Given the description of an element on the screen output the (x, y) to click on. 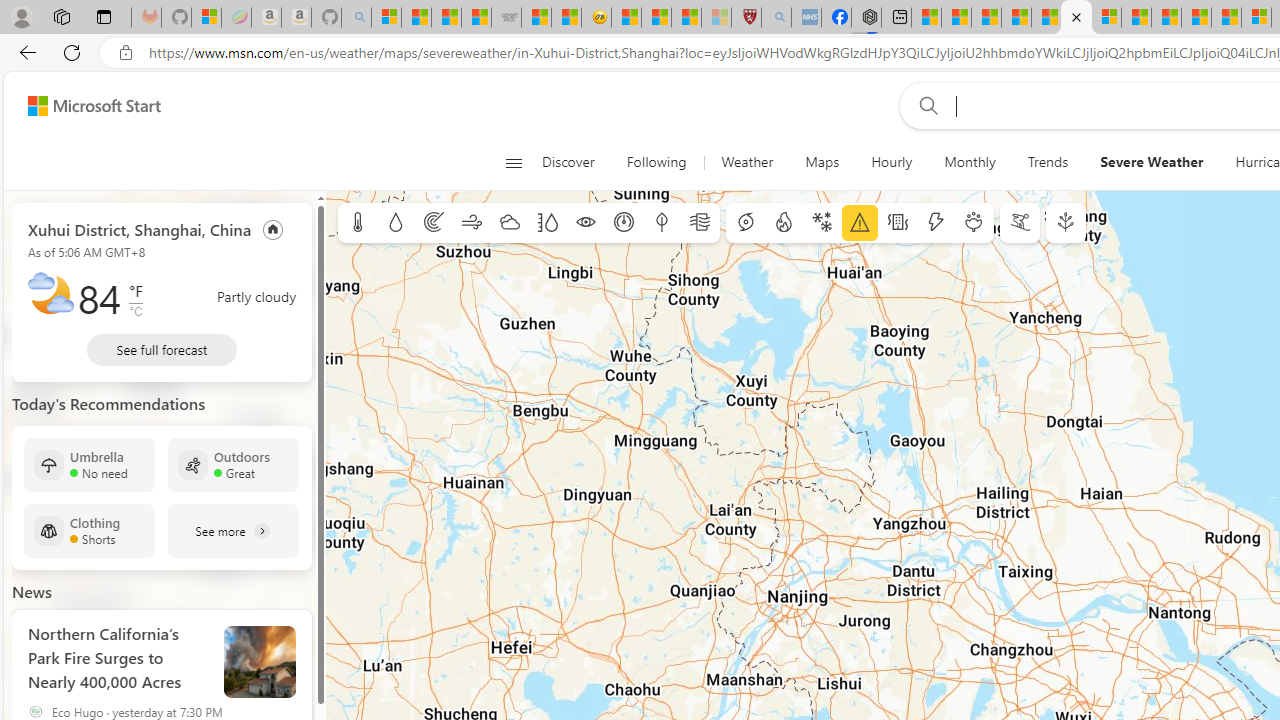
Visibility (586, 223)
Maps (822, 162)
Ski conditions (1020, 223)
Severe weather (860, 223)
12 Popular Science Lies that Must be Corrected - Sleeping (715, 17)
Precipitation (395, 223)
